Given the description of an element on the screen output the (x, y) to click on. 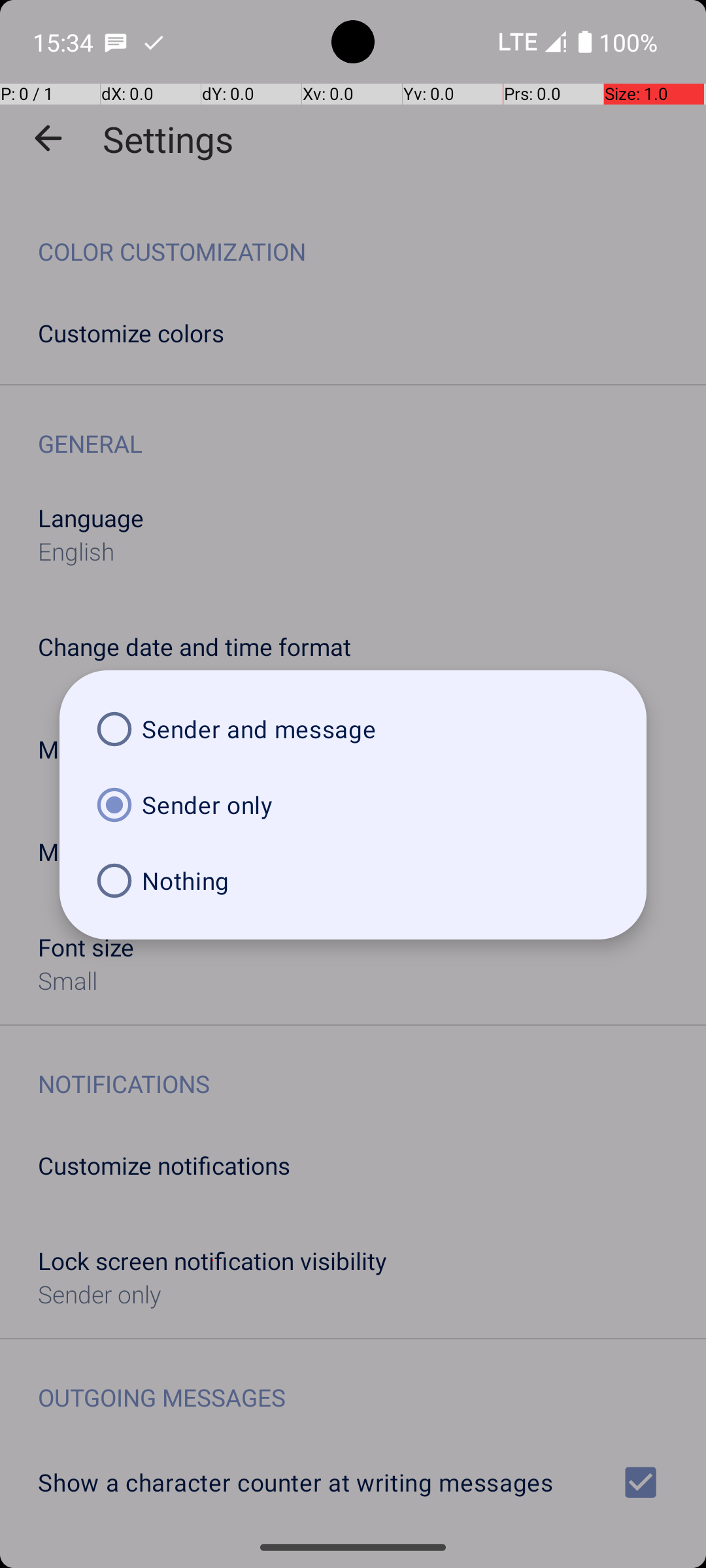
Sender and message Element type: android.widget.RadioButton (352, 729)
Sender only Element type: android.widget.RadioButton (352, 804)
Nothing Element type: android.widget.RadioButton (352, 880)
